Given the description of an element on the screen output the (x, y) to click on. 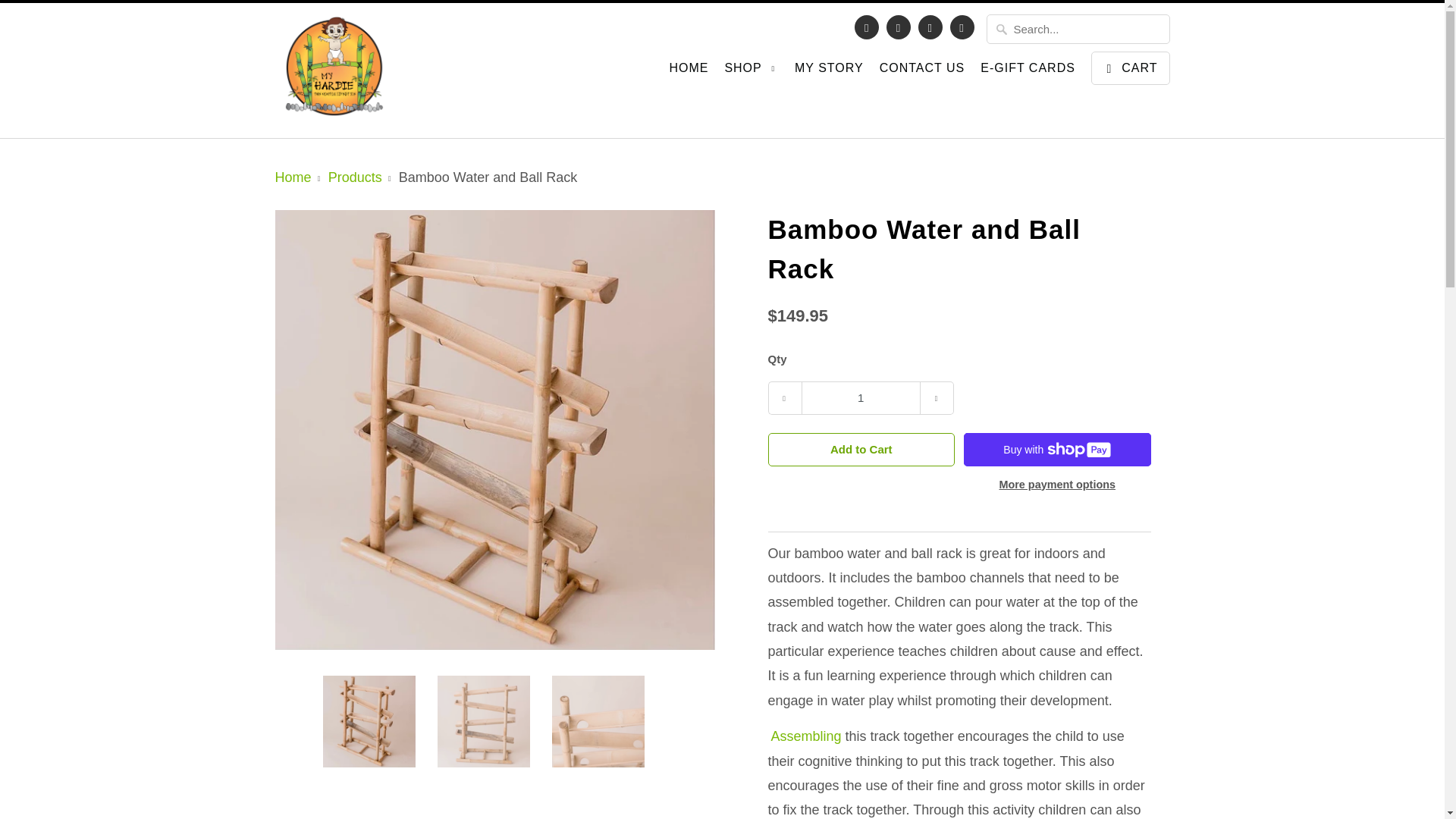
HOME (687, 71)
My Hardie on Pinterest (898, 27)
MY STORY (828, 71)
Email My Hardie (961, 27)
My Hardie on Facebook (866, 27)
E-GIFT CARDS (1027, 71)
CONTACT US (922, 71)
1 (860, 397)
CART (1130, 68)
Products (355, 177)
